Given the description of an element on the screen output the (x, y) to click on. 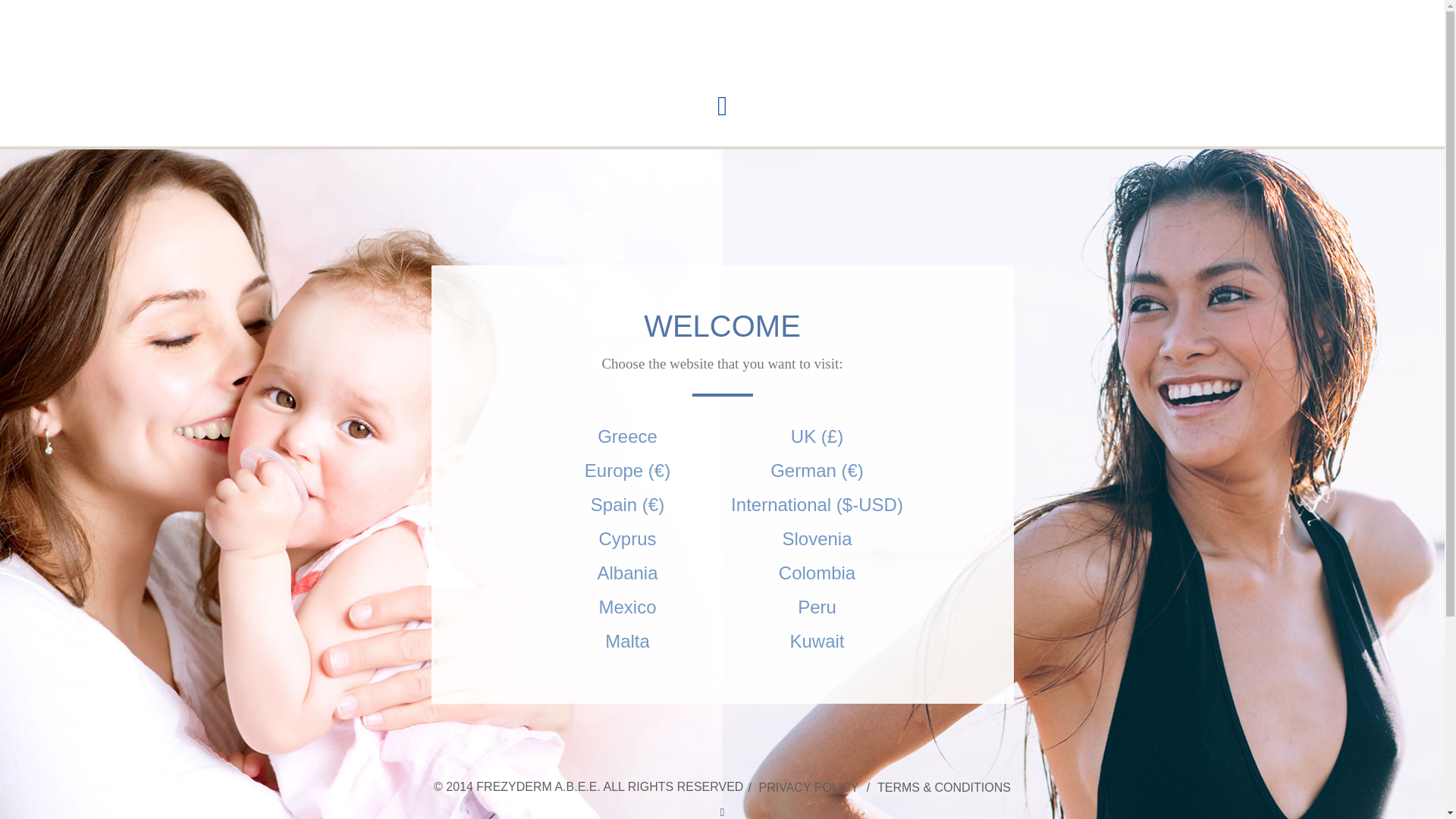
Peru (816, 606)
Greece (627, 435)
Cyprus (627, 538)
Kuwait (816, 640)
Malta (627, 640)
PRIVACY POLICY (808, 787)
PRIVACY POLICY (808, 787)
Malta (627, 640)
Colombia (816, 572)
Greece (627, 435)
Mexico (627, 606)
type your email here (561, 804)
Peru (816, 606)
Slovenia (816, 538)
ATCOM (721, 811)
